Given the description of an element on the screen output the (x, y) to click on. 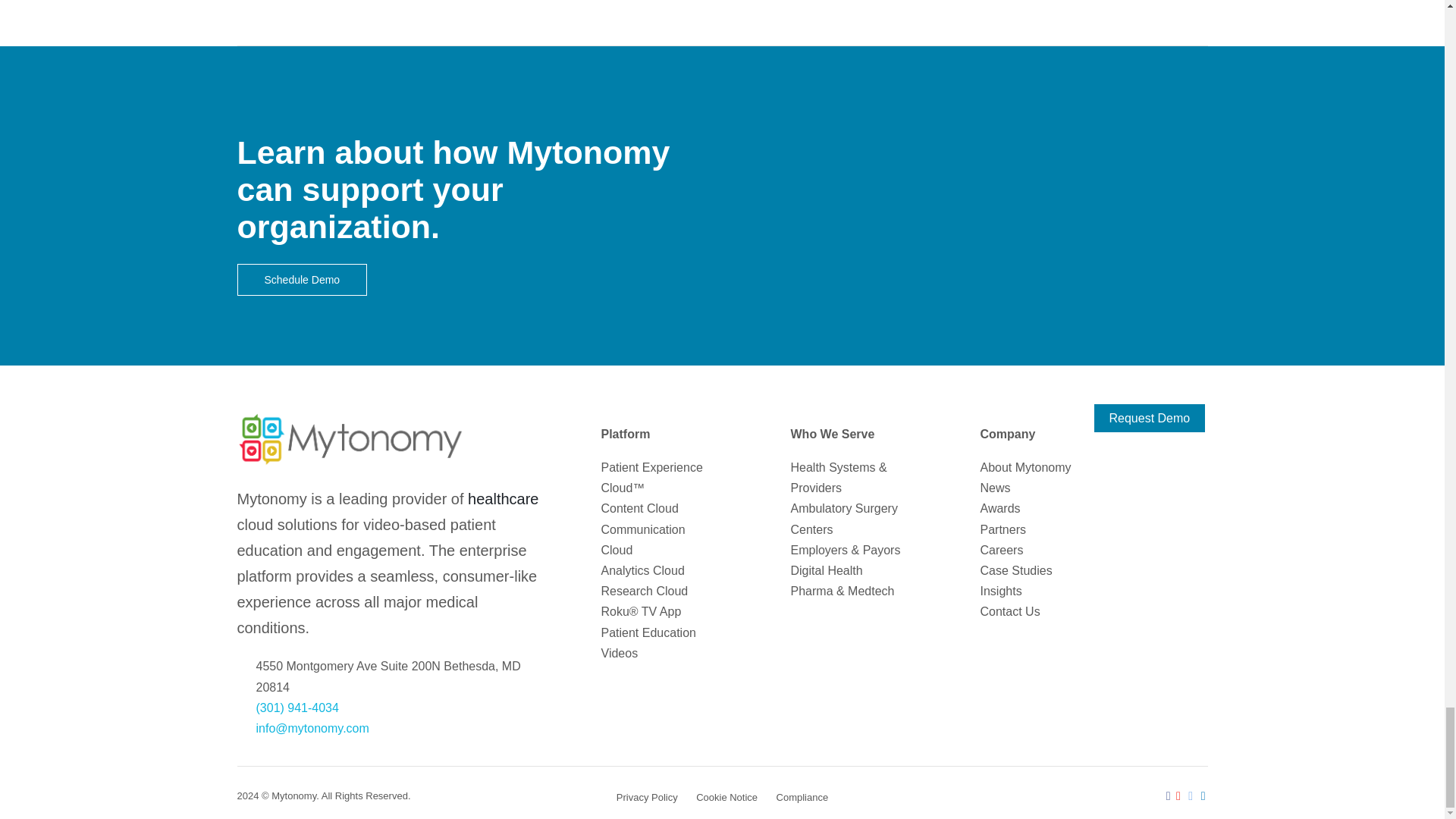
Schedule Demo (300, 279)
Request Demo (1149, 418)
